Given the description of an element on the screen output the (x, y) to click on. 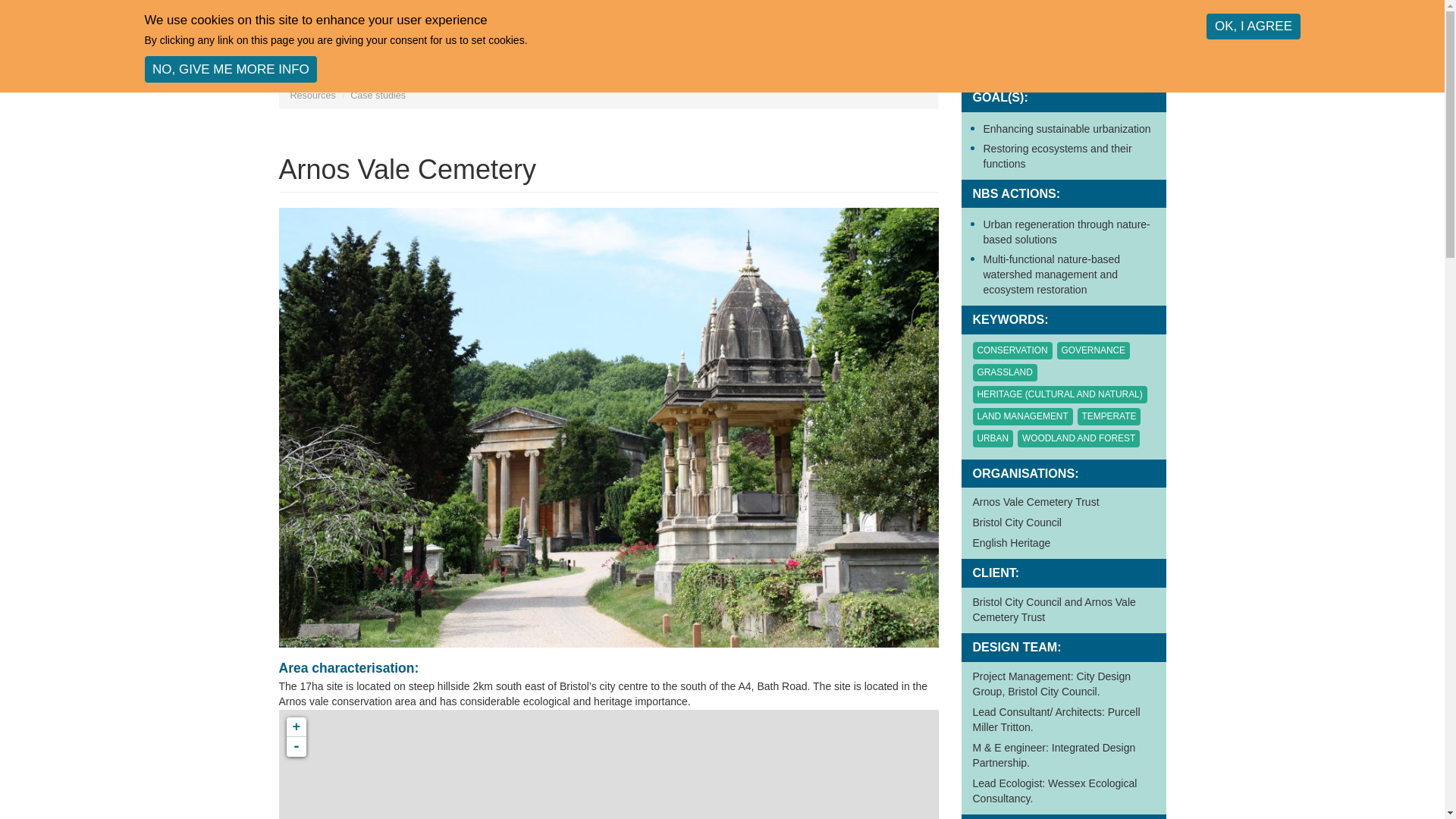
NO, GIVE ME MORE INFO (230, 69)
Zoom in (295, 727)
- (295, 746)
LOG IN (1052, 33)
Resources (311, 95)
Home (336, 32)
Themes (561, 12)
Task forces (884, 12)
Resources (662, 12)
Community (773, 12)
CONSERVATION (1011, 350)
Zoom out (295, 746)
About (475, 12)
